Given the description of an element on the screen output the (x, y) to click on. 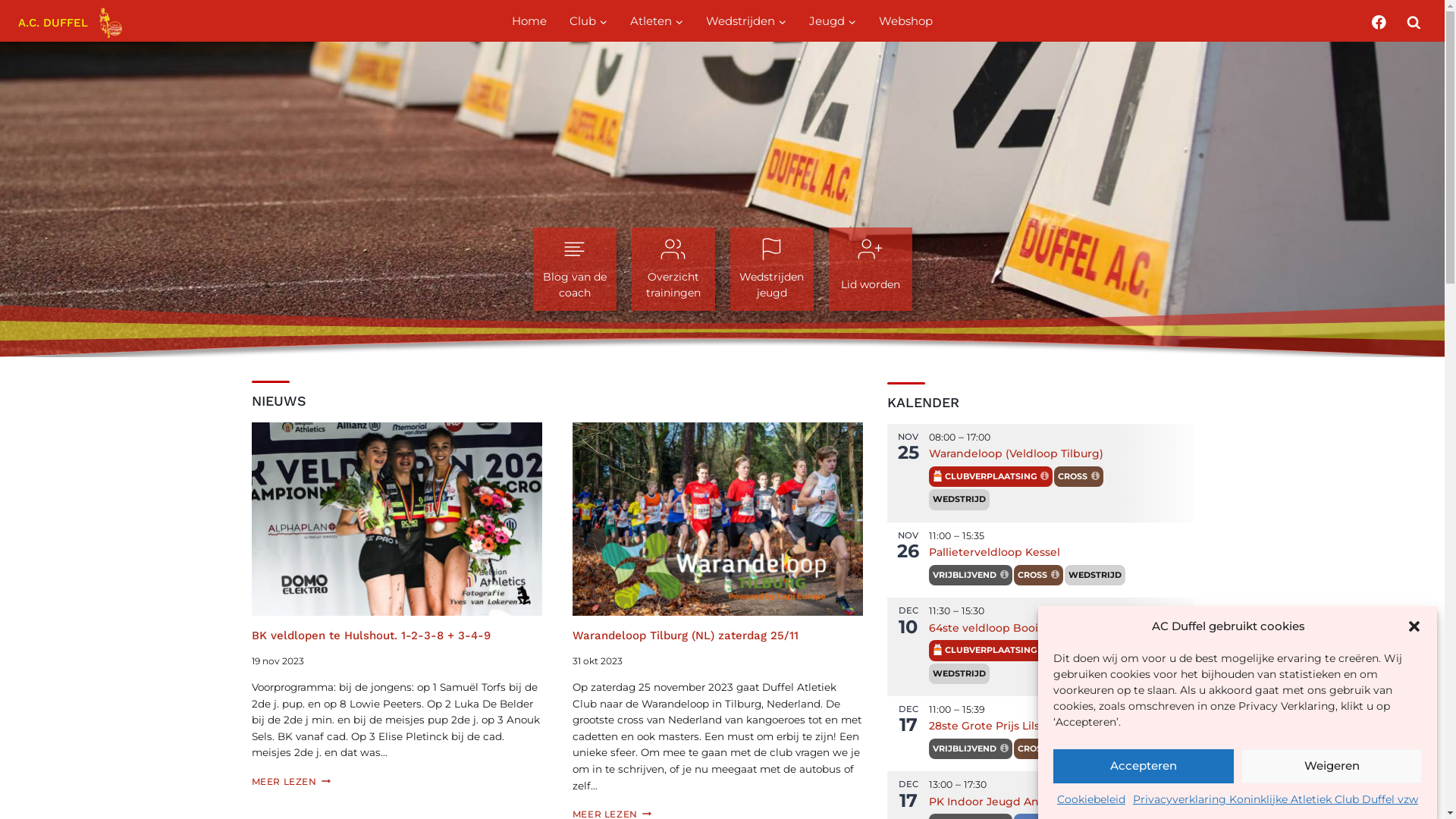
Atleten Element type: text (656, 20)
Webshop Element type: text (905, 20)
Privacyverklaring Koninklijke Atletiek Club Duffel vzw Element type: text (1275, 798)
Club Element type: text (588, 20)
64ste veldloop Booischot Element type: text (998, 627)
Wedstrijden Element type: text (745, 20)
PK Indoor Jeugd Antwerpen Element type: text (1007, 801)
MEER LEZEN
BK VELDLOPEN TE HULSHOUT. 1-2-3-8 + 3-4-9 Element type: text (290, 780)
Cookiebeleid Element type: text (1091, 798)
Jeugd Element type: text (832, 20)
Accepteren Element type: text (1143, 766)
Weigeren Element type: text (1331, 766)
28ste Grote Prijs Lilse Bergen Element type: text (1009, 725)
Home Element type: text (529, 20)
Pallieterveldloop Kessel Element type: text (994, 551)
Warandeloop Tilburg (NL) zaterdag 25/11 Element type: text (685, 635)
BK veldlopen te Hulshout. 1-2-3-8 + 3-4-9 Element type: text (370, 635)
A.C. DUFFEL Element type: text (70, 22)
Warandeloop (Veldloop Tilburg) Element type: text (1015, 453)
